Given the description of an element on the screen output the (x, y) to click on. 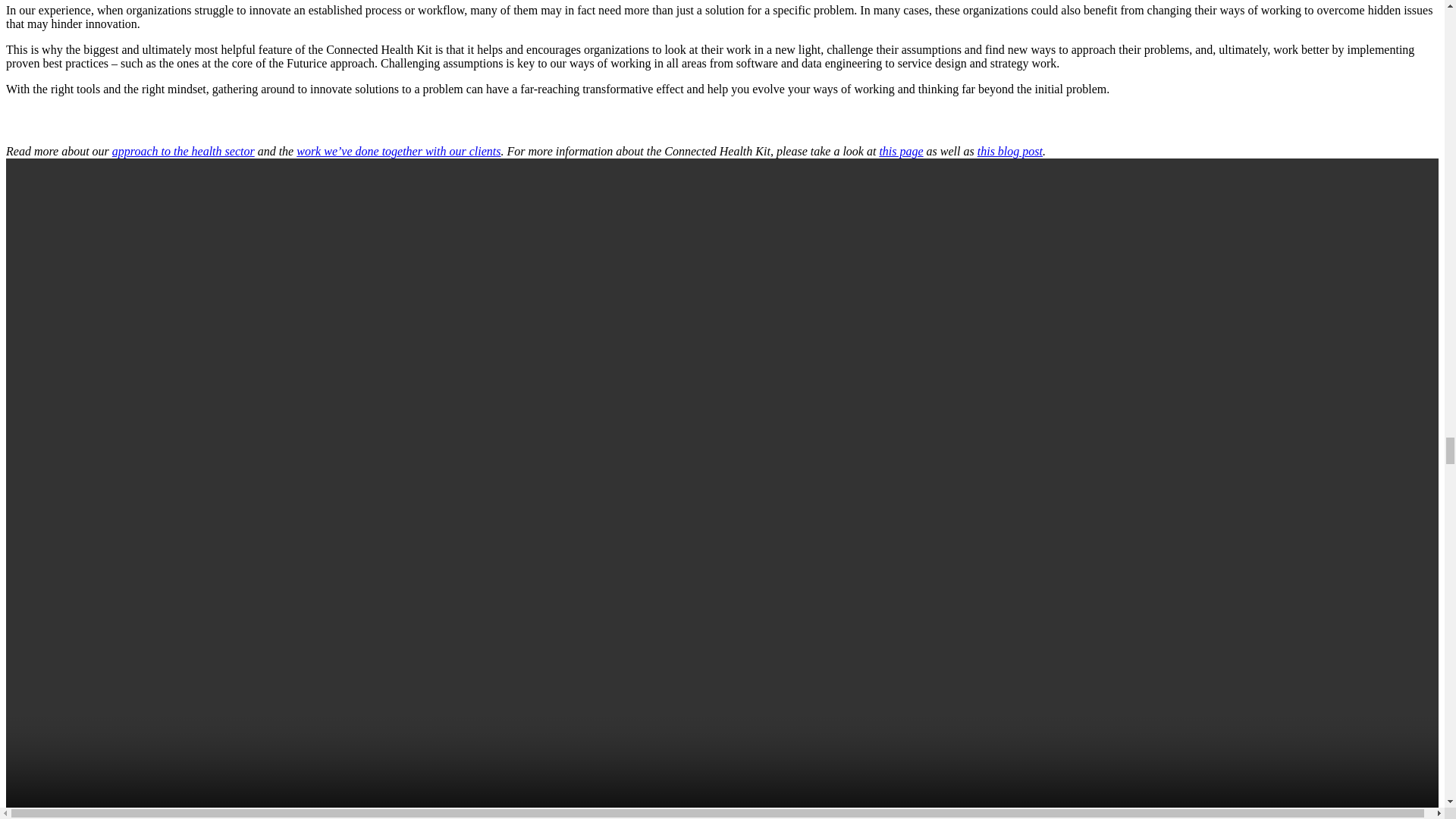
Future of Healthcare (183, 151)
The Connected Health Kit by Futurice (901, 151)
Futurice case stories (398, 151)
